Given the description of an element on the screen output the (x, y) to click on. 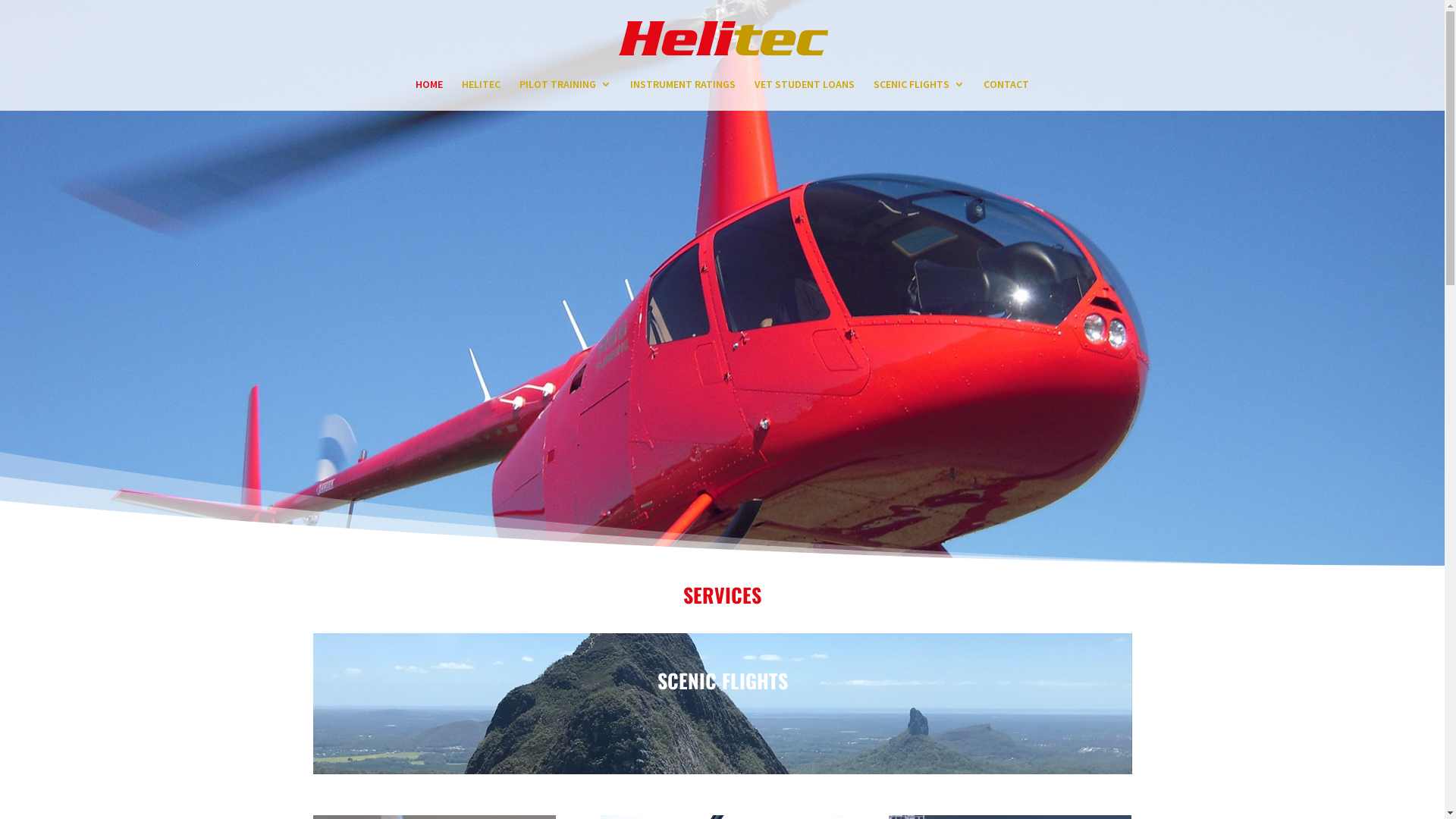
SCENIC FLIGHTS Element type: text (918, 94)
HELITEC Element type: text (480, 94)
HOME Element type: text (428, 94)
CONTACT Element type: text (1006, 94)
VET STUDENT LOANS Element type: text (804, 94)
PILOT TRAINING Element type: text (565, 94)
INSTRUMENT RATINGS Element type: text (682, 94)
